Given the description of an element on the screen output the (x, y) to click on. 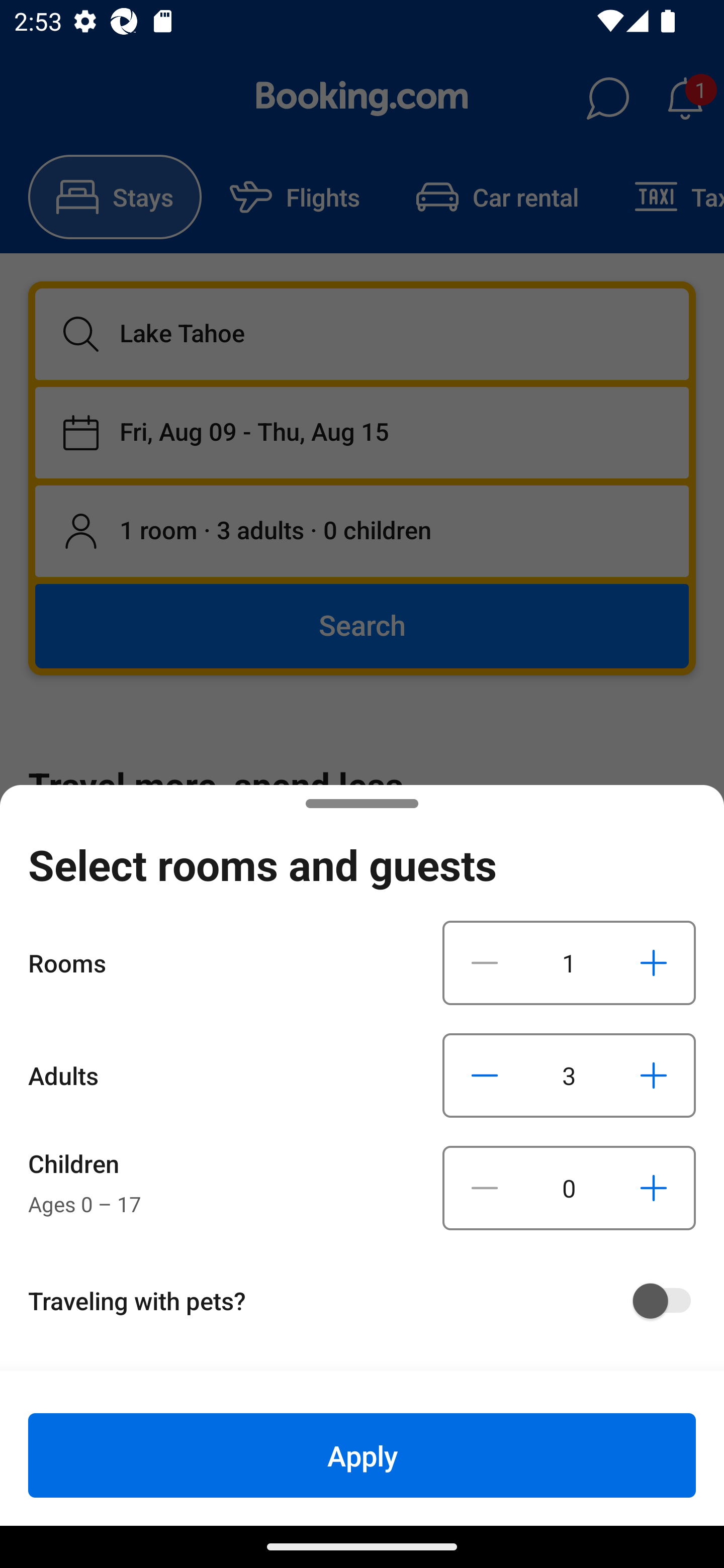
Decrease (484, 962)
Increase (653, 962)
Decrease (484, 1075)
Increase (653, 1075)
Decrease (484, 1188)
Increase (653, 1188)
Traveling with pets? (369, 1300)
Apply (361, 1454)
